Given the description of an element on the screen output the (x, y) to click on. 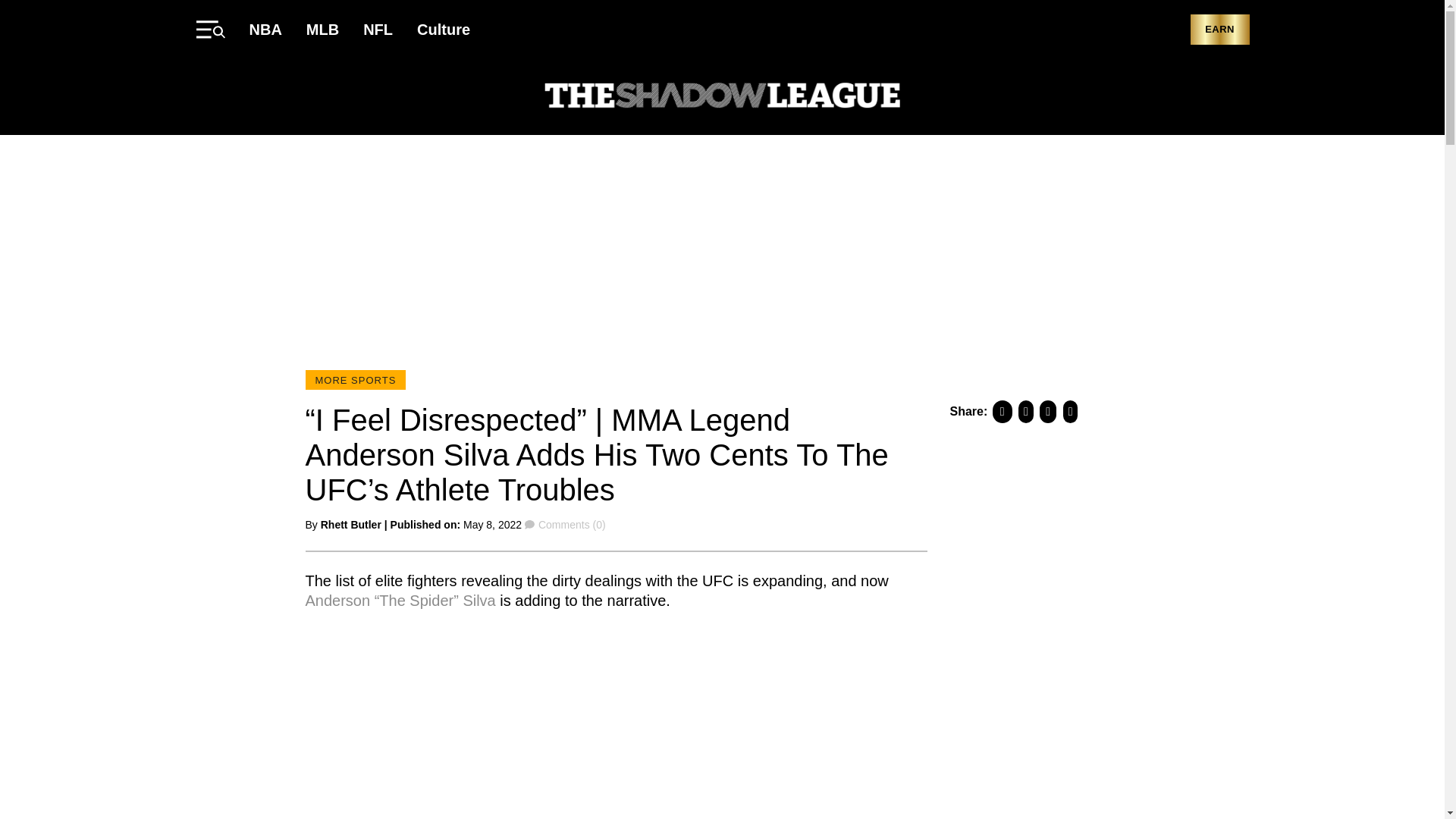
NBA (264, 29)
NFL (377, 29)
MORE SPORTS (355, 379)
MLB (322, 29)
Culture (443, 29)
Rhett Butler (350, 524)
The Shadow League (721, 96)
EARN (1220, 29)
